Given the description of an element on the screen output the (x, y) to click on. 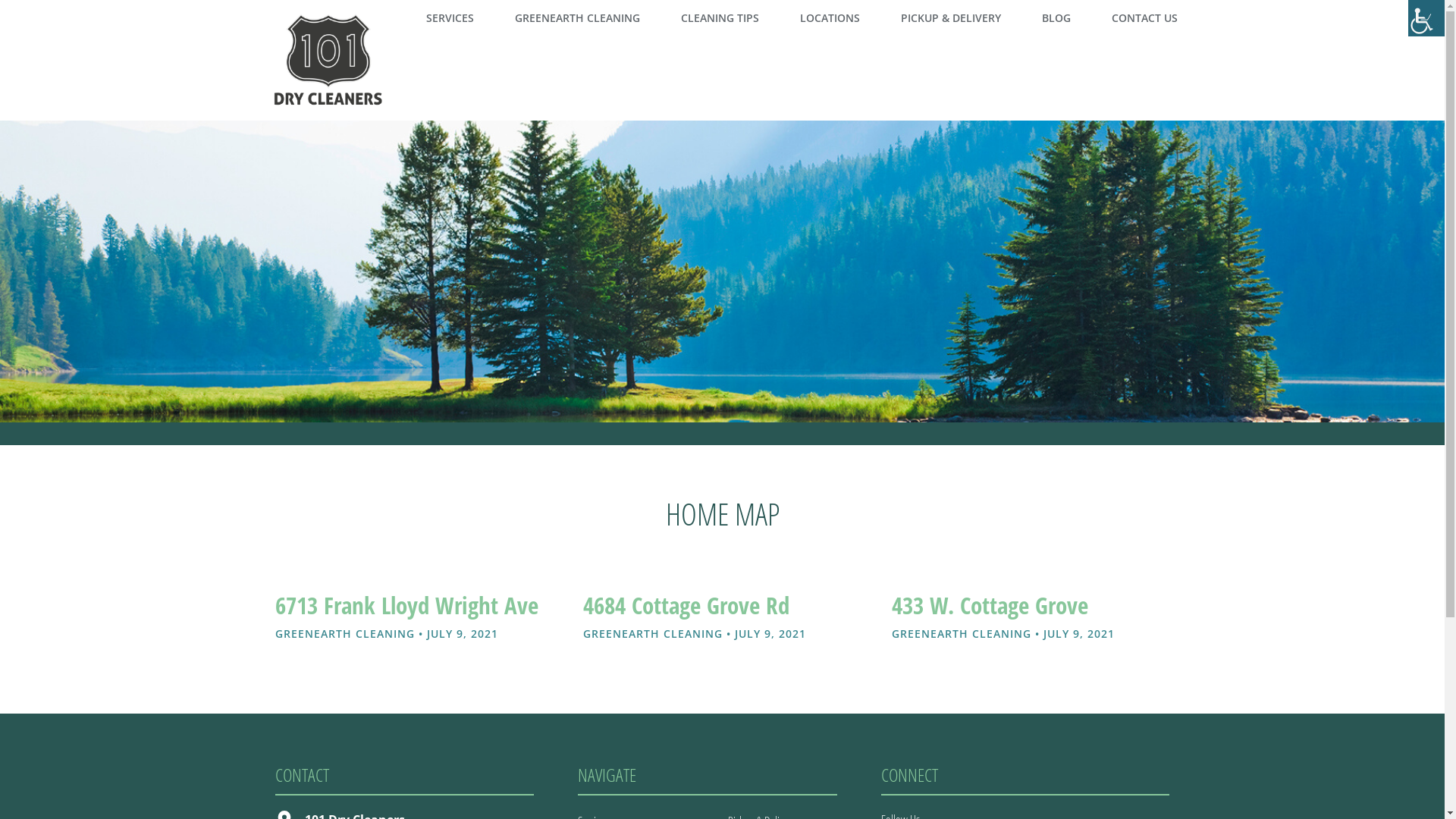
PICKUP & DELIVERY Element type: text (950, 18)
433 W. Cottage Grove Element type: text (989, 604)
GREENEARTH CLEANING Element type: text (576, 18)
6713 Frank Lloyd Wright Ave Element type: text (405, 604)
BLOG Element type: text (1055, 18)
CLEANING TIPS Element type: text (719, 18)
4684 Cottage Grove Rd Element type: text (686, 604)
CONTACT US Element type: text (1144, 18)
SERVICES Element type: text (449, 18)
LOCATIONS Element type: text (829, 18)
Accessibility Helper sidebar Element type: hover (1426, 18)
